Given the description of an element on the screen output the (x, y) to click on. 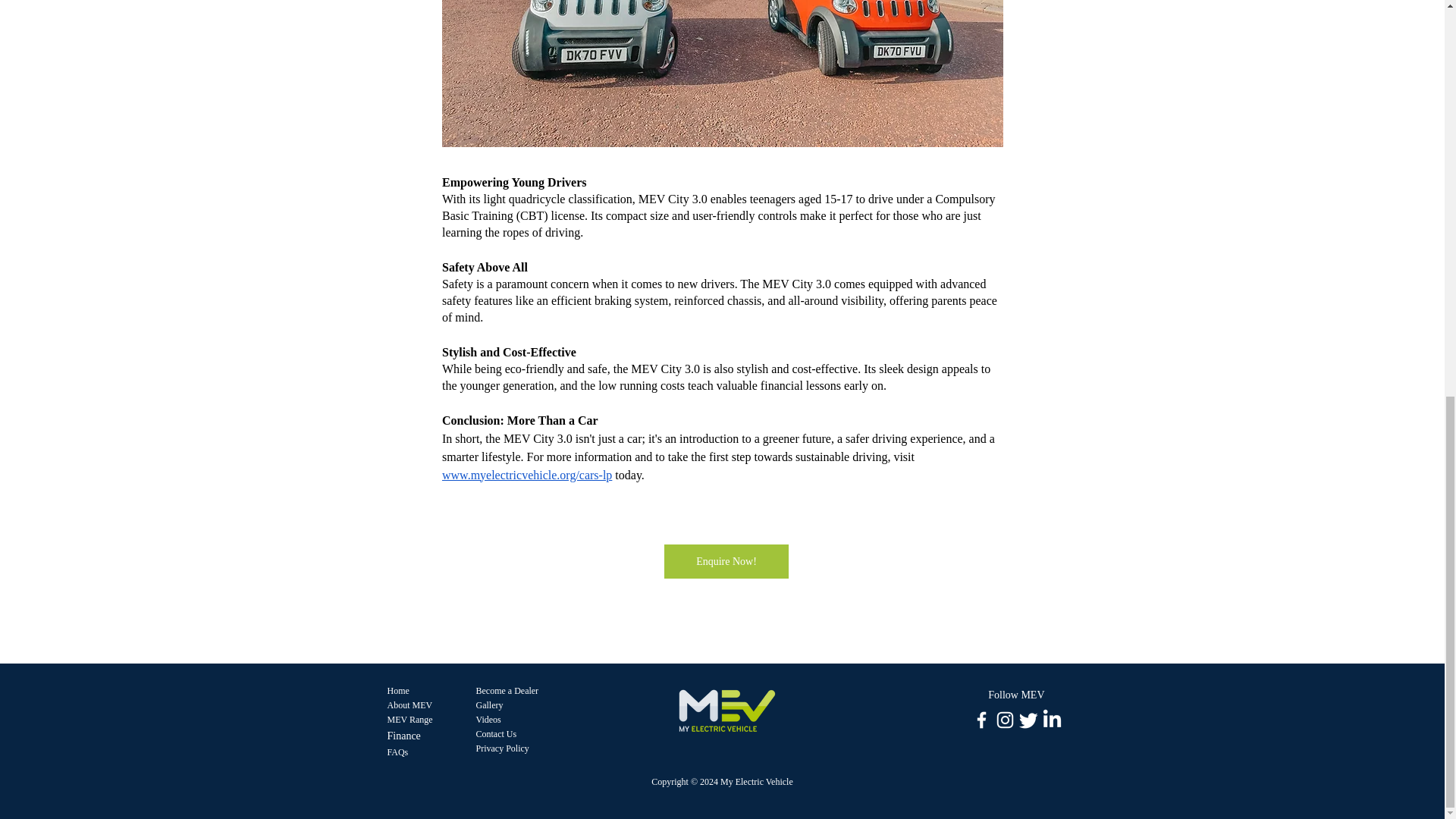
Enquire Now! (726, 561)
Contact Us (496, 733)
Privacy Policy (502, 747)
Videos (488, 719)
Gallery (489, 705)
MEV Range (409, 719)
About MEV (409, 705)
Finance (403, 736)
FAQs (397, 751)
Become a Dealer (507, 690)
